Given the description of an element on the screen output the (x, y) to click on. 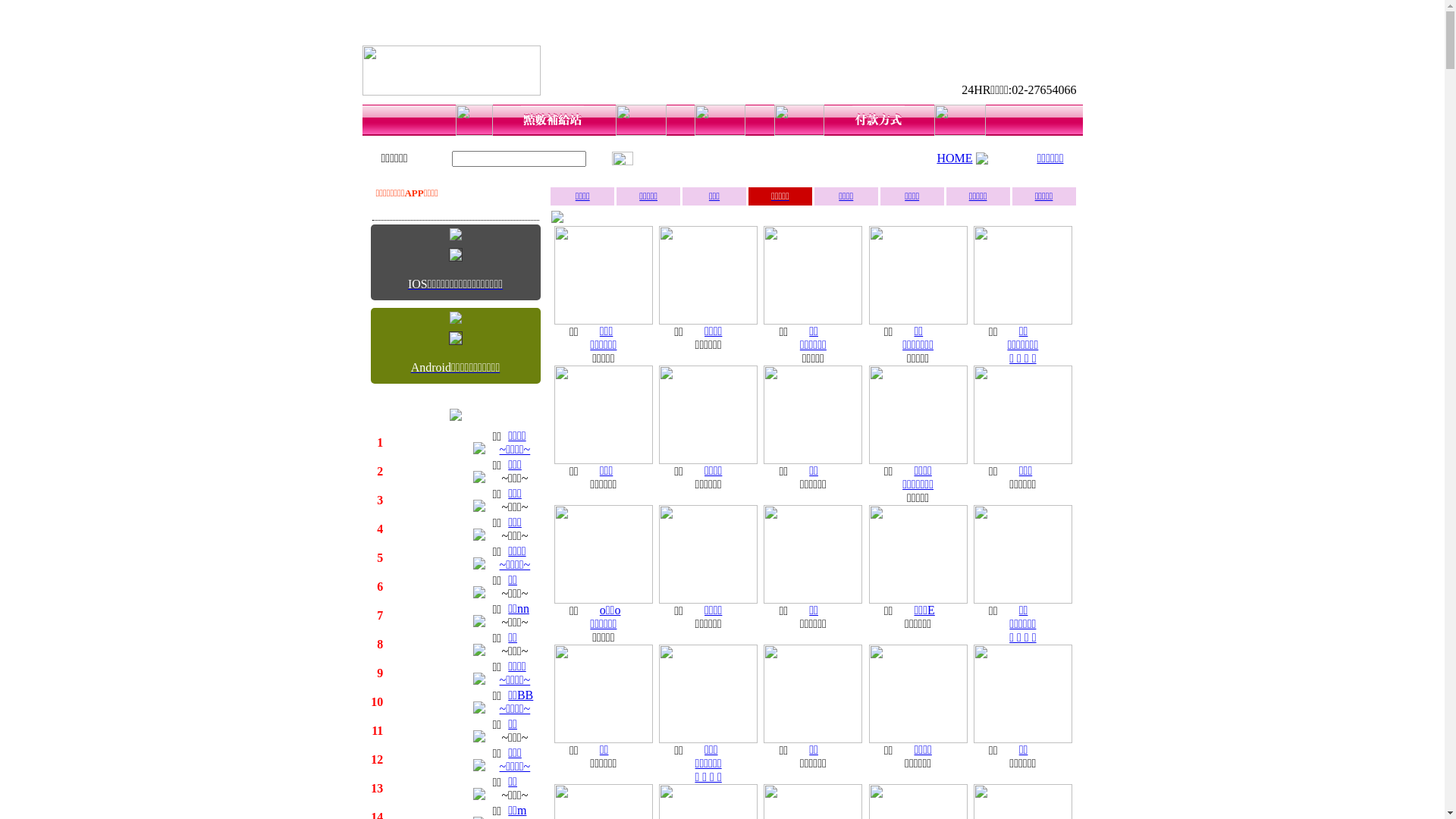
HOME Element type: text (954, 157)
